Given the description of an element on the screen output the (x, y) to click on. 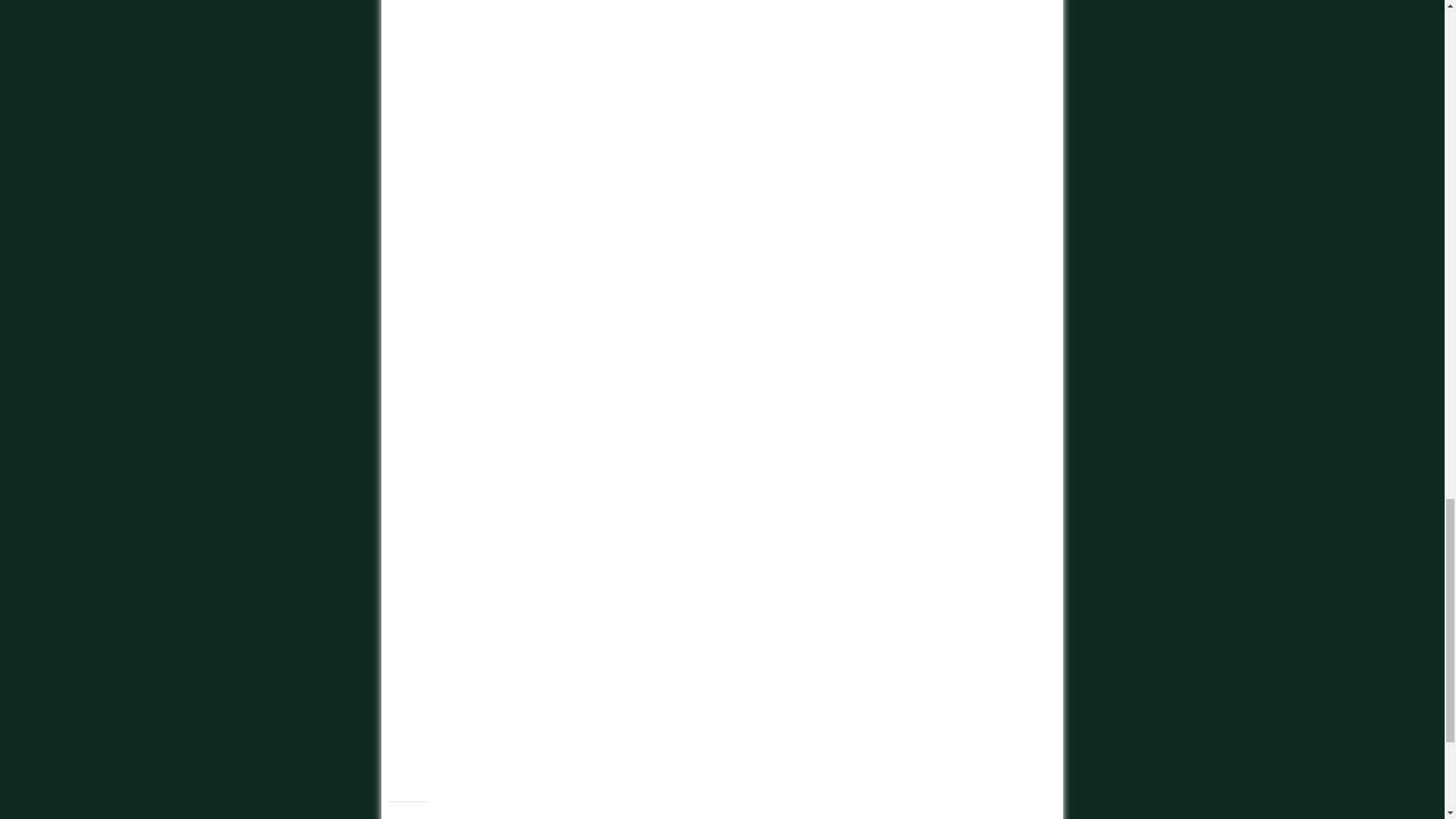
puzzle game (534, 261)
